Given the description of an element on the screen output the (x, y) to click on. 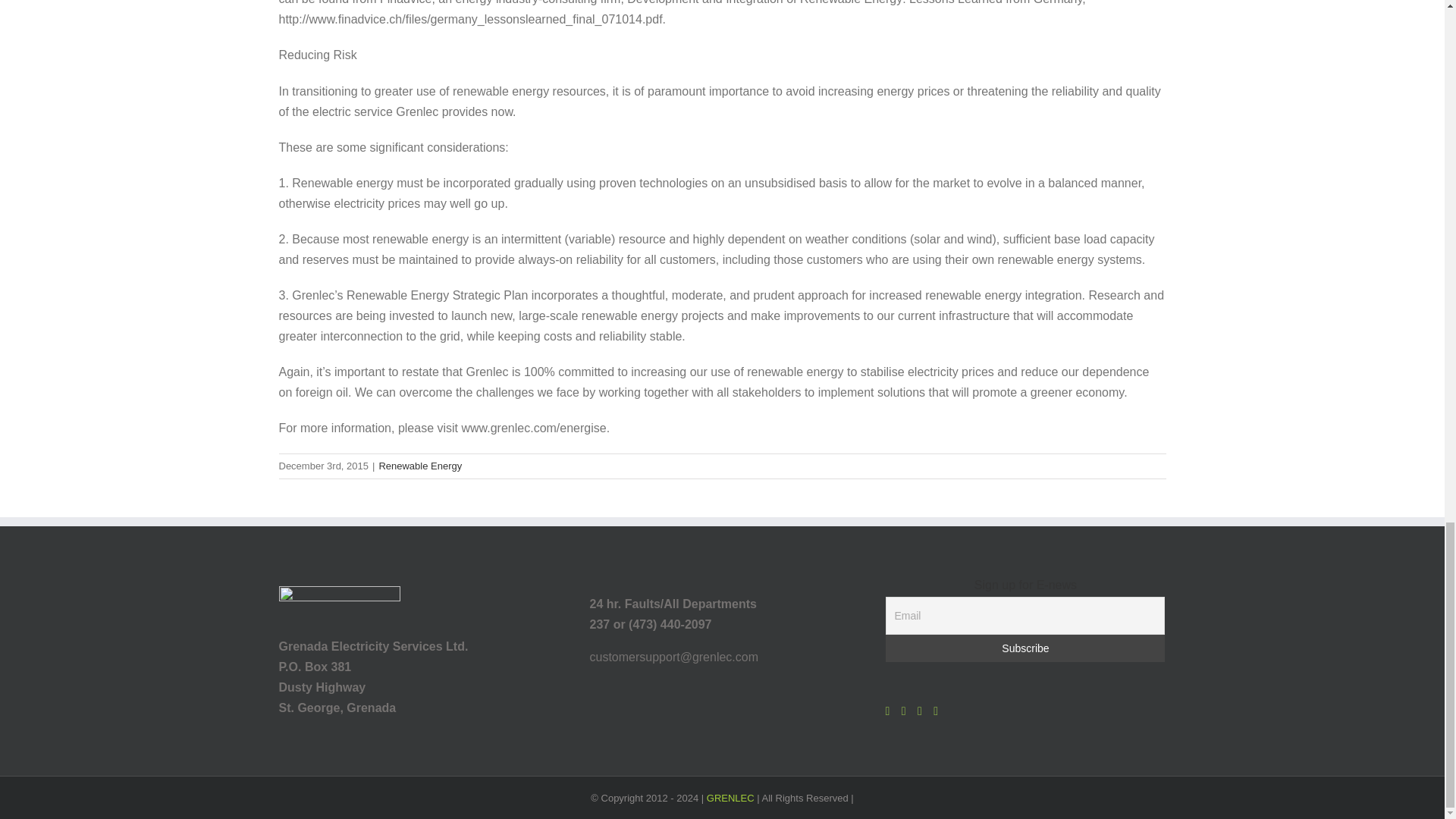
Subscribe (1024, 647)
